Given the description of an element on the screen output the (x, y) to click on. 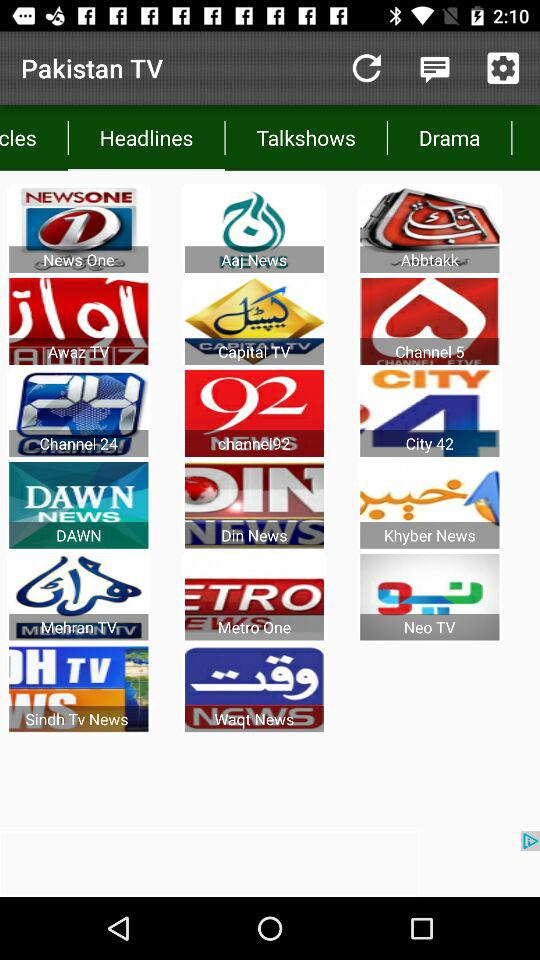
turn on icon to the left of the drama app (305, 137)
